Given the description of an element on the screen output the (x, y) to click on. 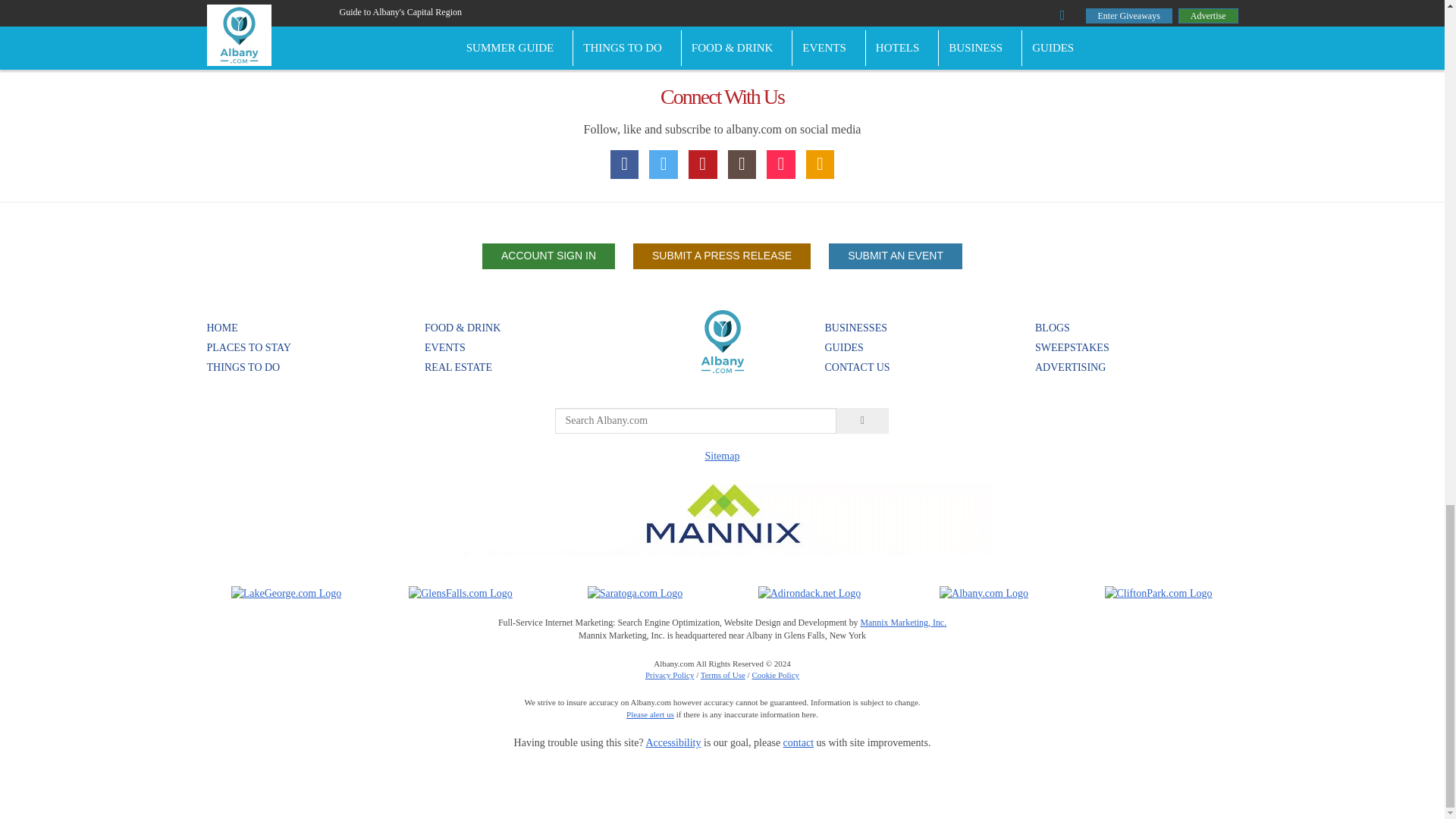
Opens in a new window (809, 592)
Opens in a new window (460, 592)
Opens in a new window (286, 592)
My Planner (820, 163)
Facebook (624, 163)
Opens in a new window (1157, 592)
Pinterest (702, 163)
Opens in a new window (635, 592)
X (663, 163)
TikTok (780, 163)
